Given the description of an element on the screen output the (x, y) to click on. 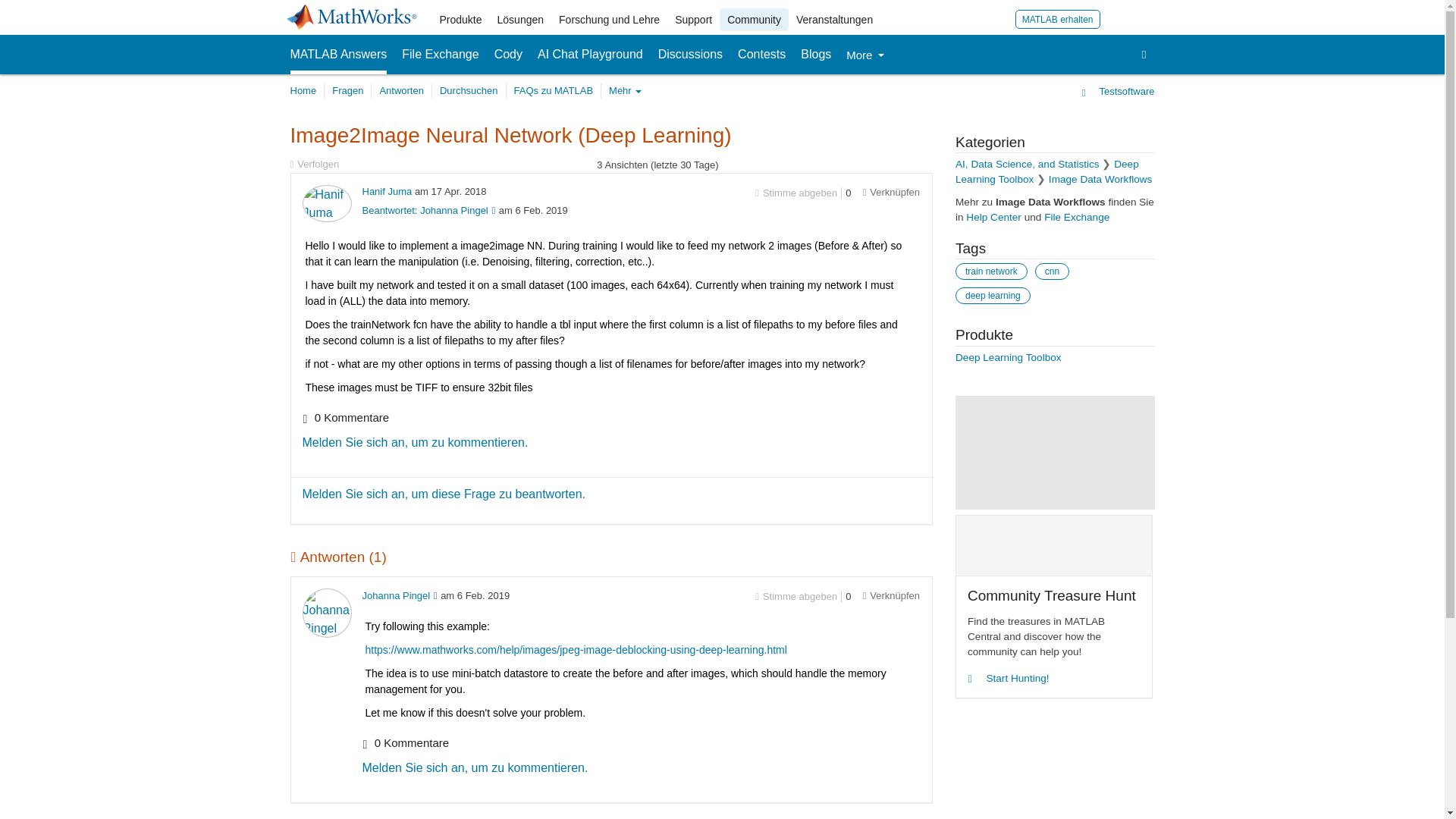
Contests (762, 54)
Discussions (690, 54)
Community (754, 19)
Support (692, 19)
AI Chat Playground (590, 54)
More (864, 54)
MATLAB Answers (338, 54)
File Exchange (440, 54)
Cody (508, 54)
Produkte (460, 19)
Direkter Link zu dieser Antwort (890, 595)
Direkter Link zu dieser Frage (890, 192)
Veranstaltungen (834, 19)
MATLAB erhalten (1057, 18)
Melden Sie sich bei Ihrem MathWorks Konto an (1117, 18)
